Given the description of an element on the screen output the (x, y) to click on. 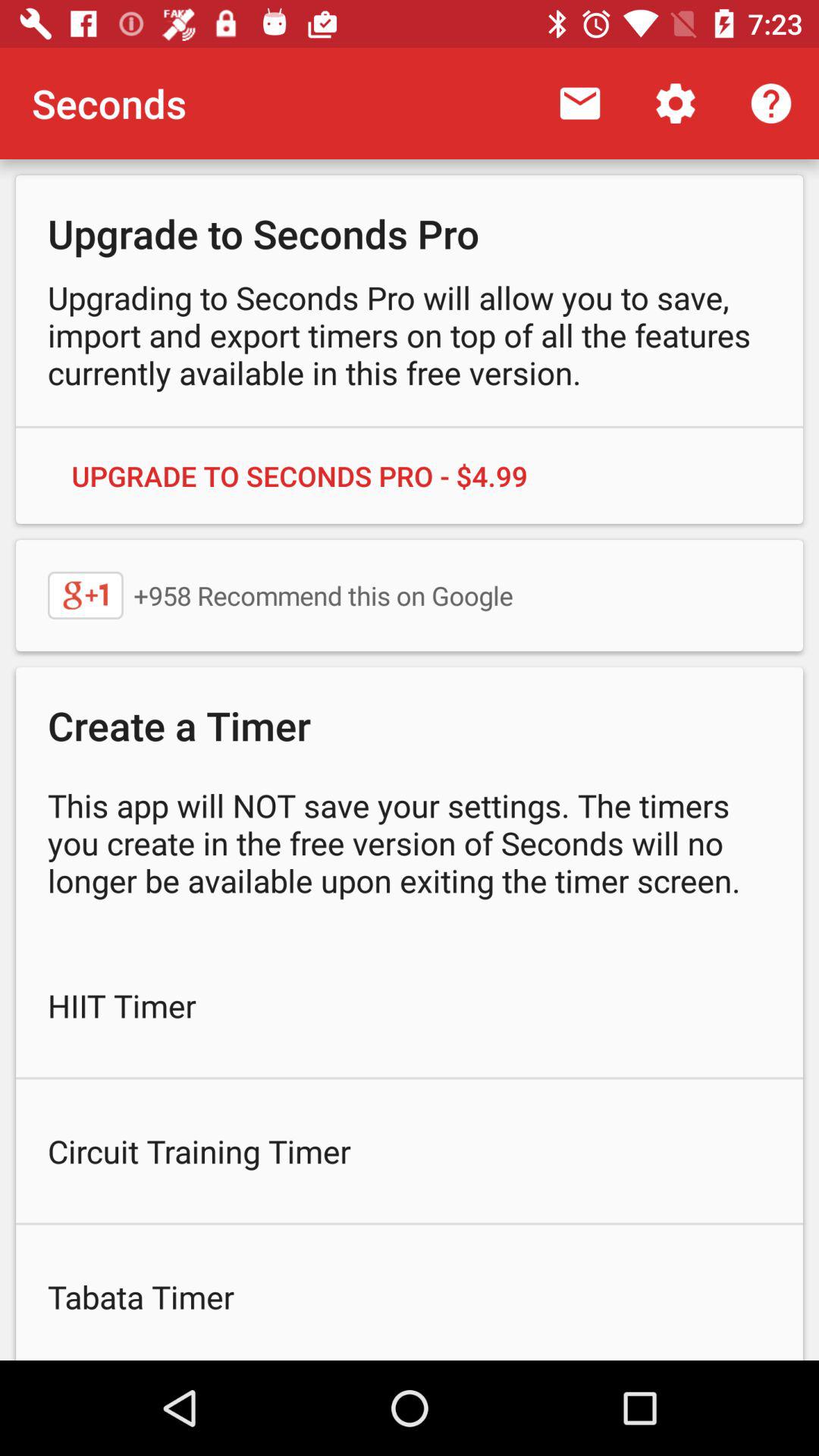
choose circuit training timer icon (409, 1150)
